Given the description of an element on the screen output the (x, y) to click on. 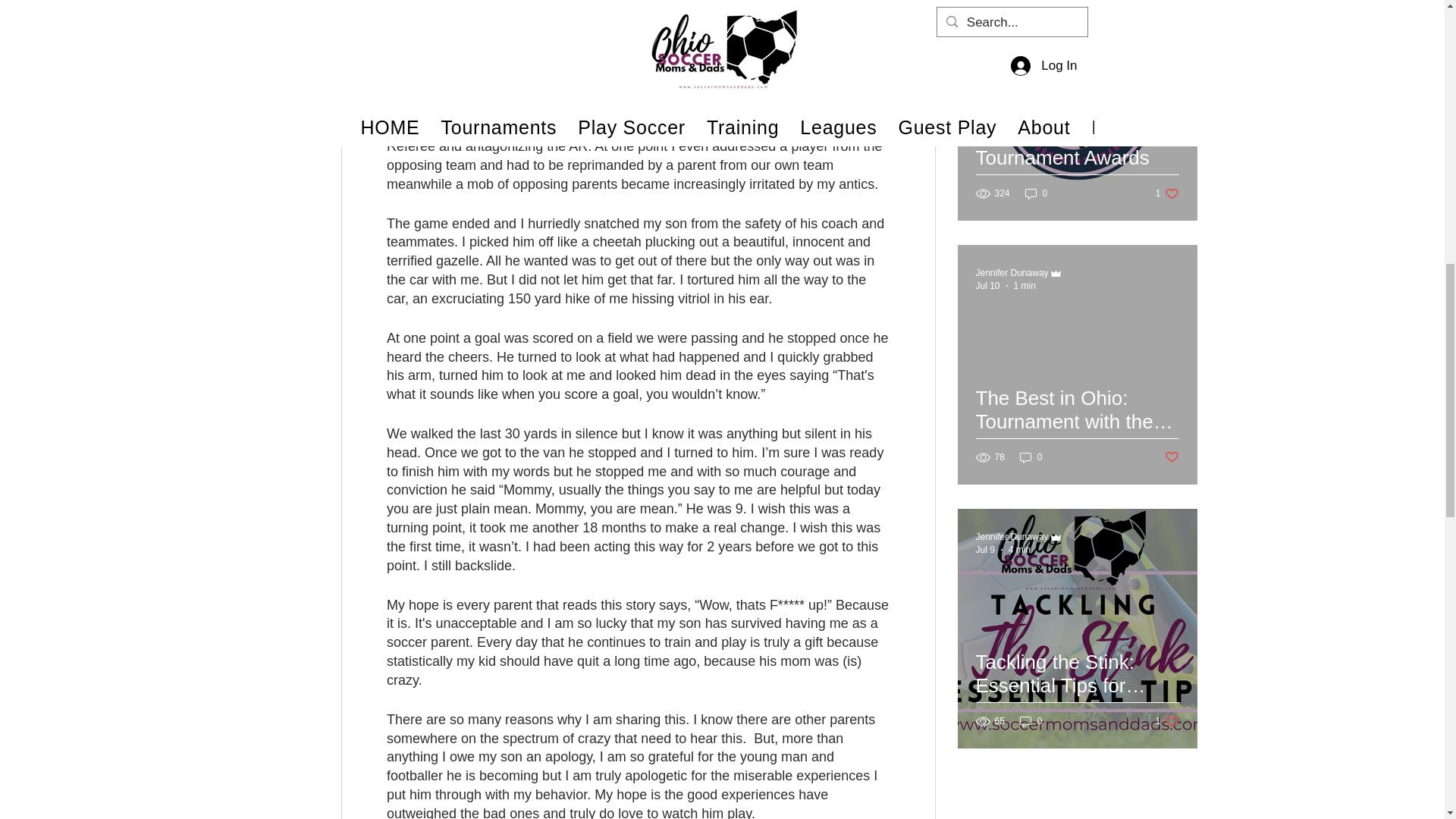
Jul 10 (986, 285)
Jul 13 (986, 21)
4 min (1019, 549)
Jennifer Dunaway (1011, 536)
Jul 9 (984, 549)
Jennifer Dunaway (1011, 9)
Jennifer Dunaway (1011, 272)
1 min (1024, 285)
1 min (1024, 21)
